Given the description of an element on the screen output the (x, y) to click on. 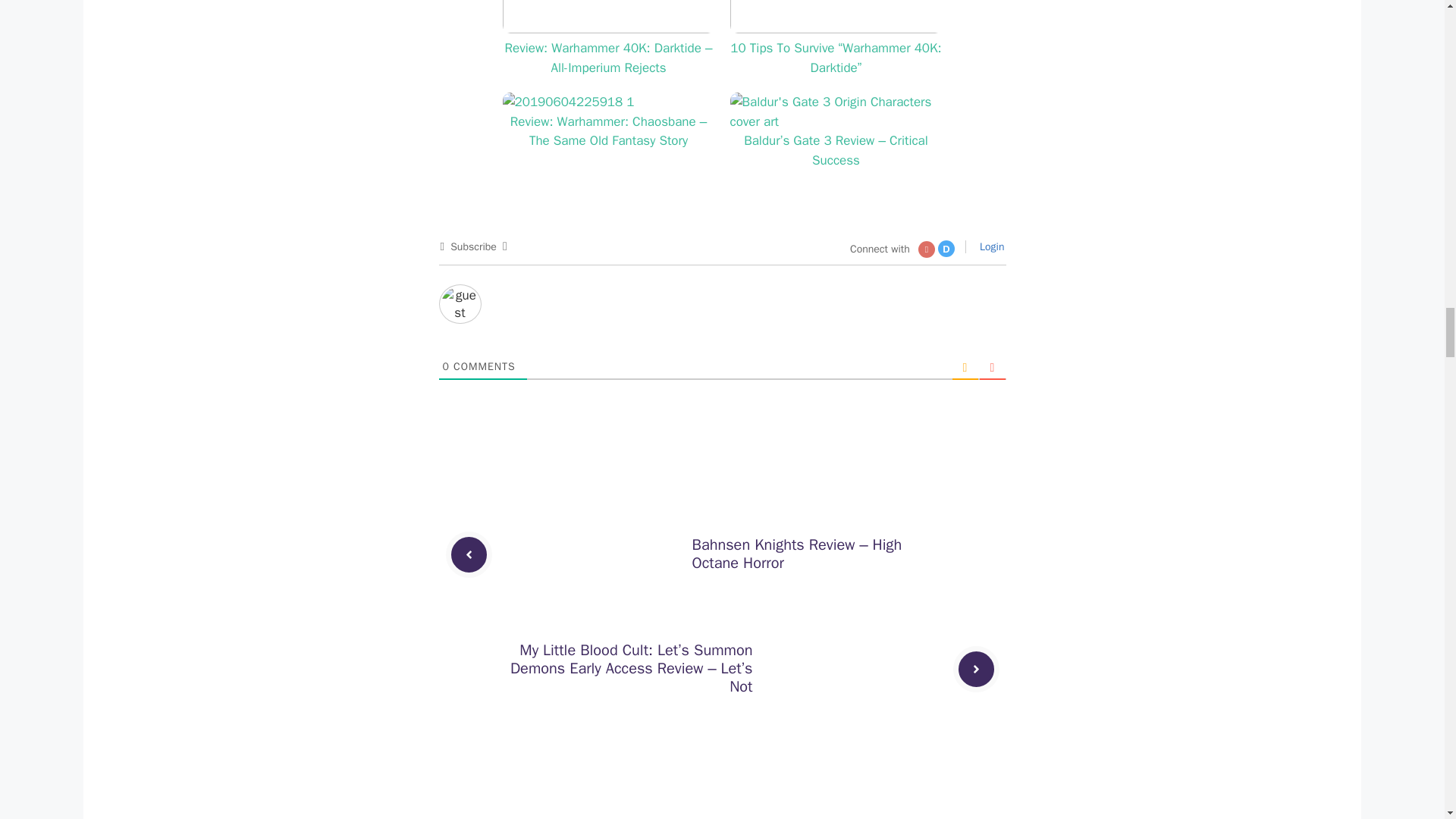
Login (989, 246)
